Given the description of an element on the screen output the (x, y) to click on. 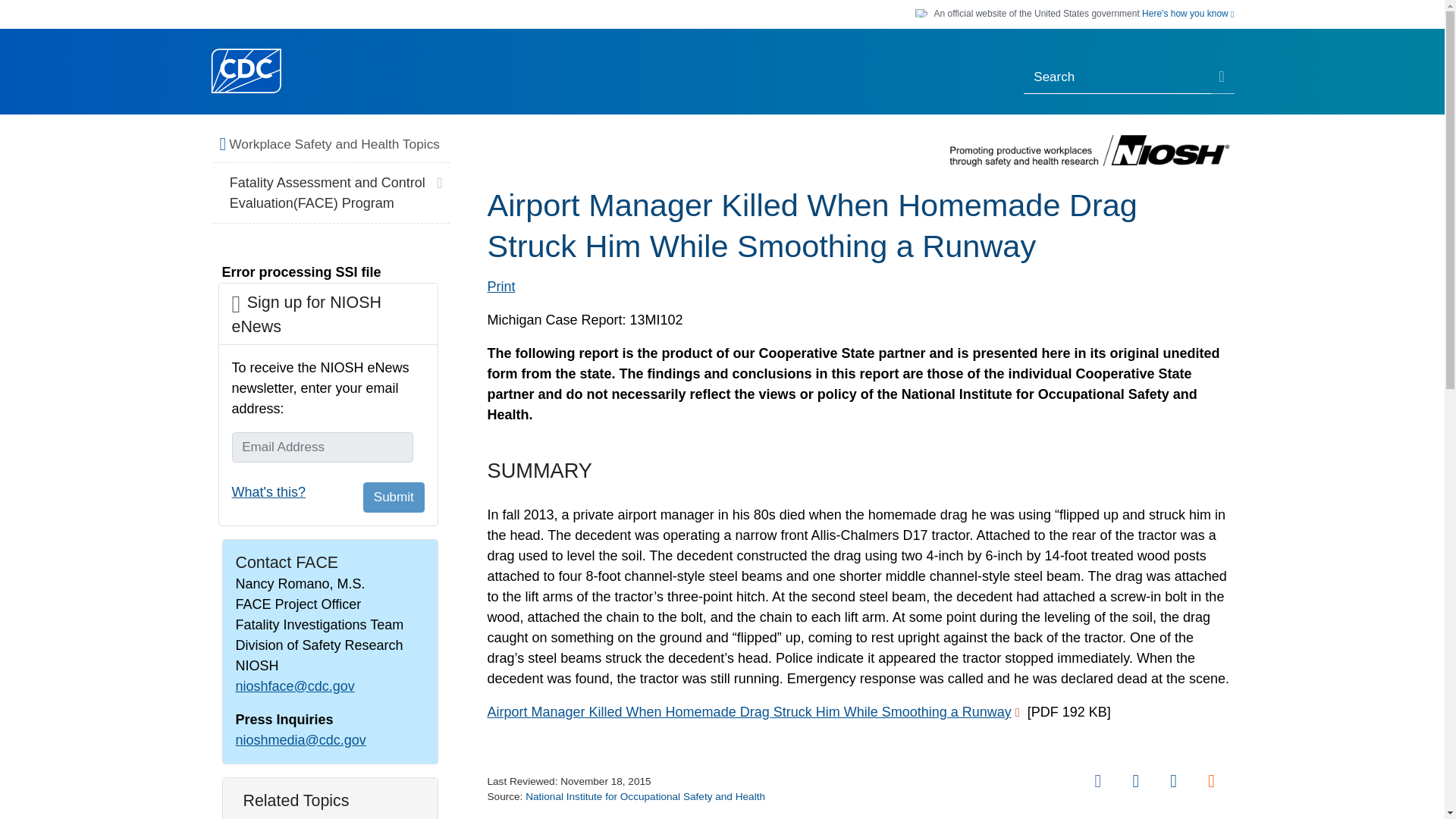
National Institute for Occupational Safety and Health (645, 796)
Email Address (322, 447)
Here's how you know (1187, 14)
Workplace Safety and Health Topics (335, 144)
Print (500, 286)
plus icon (437, 178)
